Given the description of an element on the screen output the (x, y) to click on. 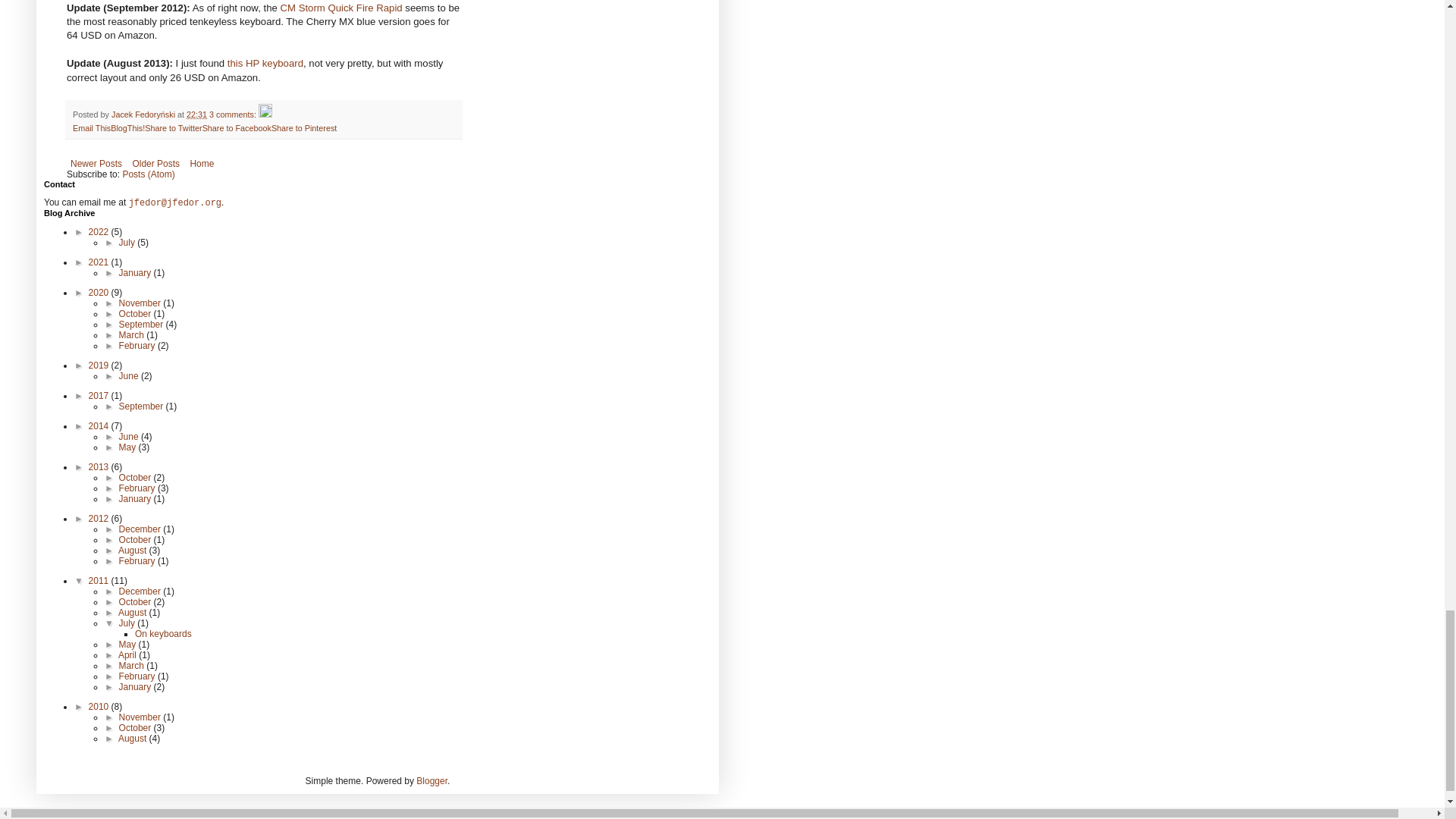
22:31 (196, 113)
Older Posts (155, 163)
Older Posts (155, 163)
Newer Posts (95, 163)
author profile (144, 113)
July (128, 242)
2021 (100, 262)
Share to Facebook (236, 127)
this HP keyboard (264, 62)
Email This (91, 127)
permanent link (196, 113)
Share to Twitter (173, 127)
3 comments: (234, 113)
Edit Post (265, 113)
BlogThis! (127, 127)
